Given the description of an element on the screen output the (x, y) to click on. 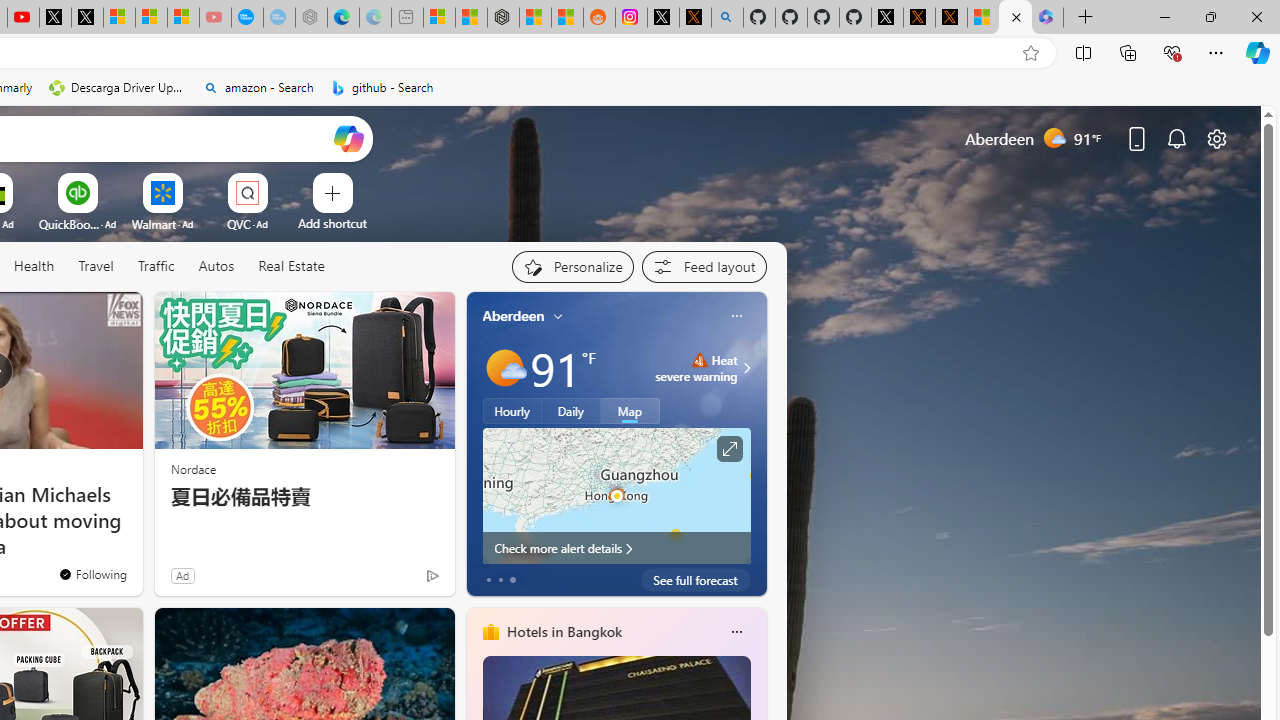
Nordace - Nordace has arrived Hong Kong - Sleeping (310, 17)
Map (630, 411)
Heat - Severe (699, 359)
Real Estate (290, 267)
Class: weather-arrow-glyph (746, 367)
Aberdeen (513, 315)
Gloom - YouTube - Sleeping (215, 17)
Traffic (155, 265)
